Given the description of an element on the screen output the (x, y) to click on. 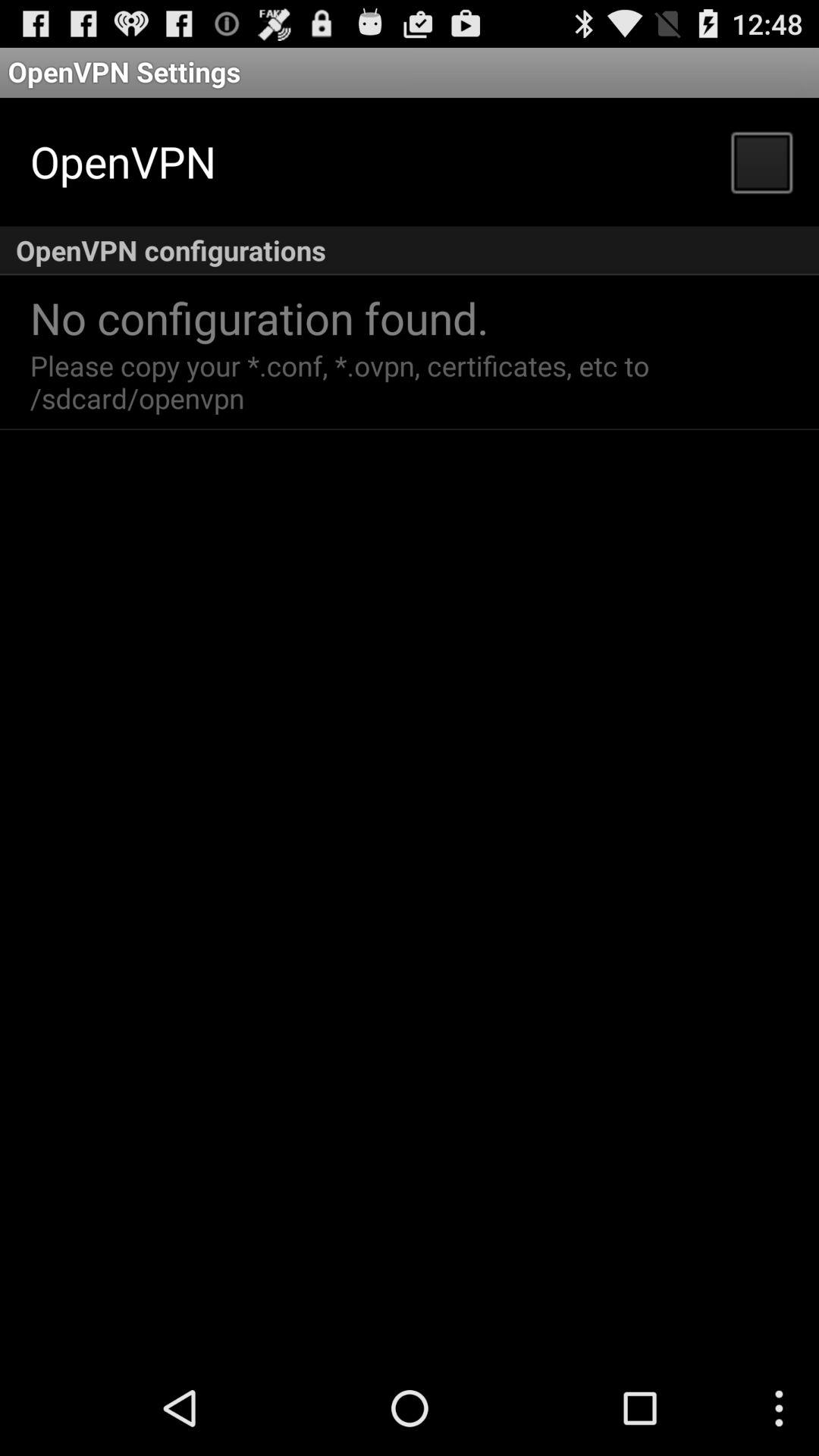
press app to the right of the openvpn (761, 161)
